Given the description of an element on the screen output the (x, y) to click on. 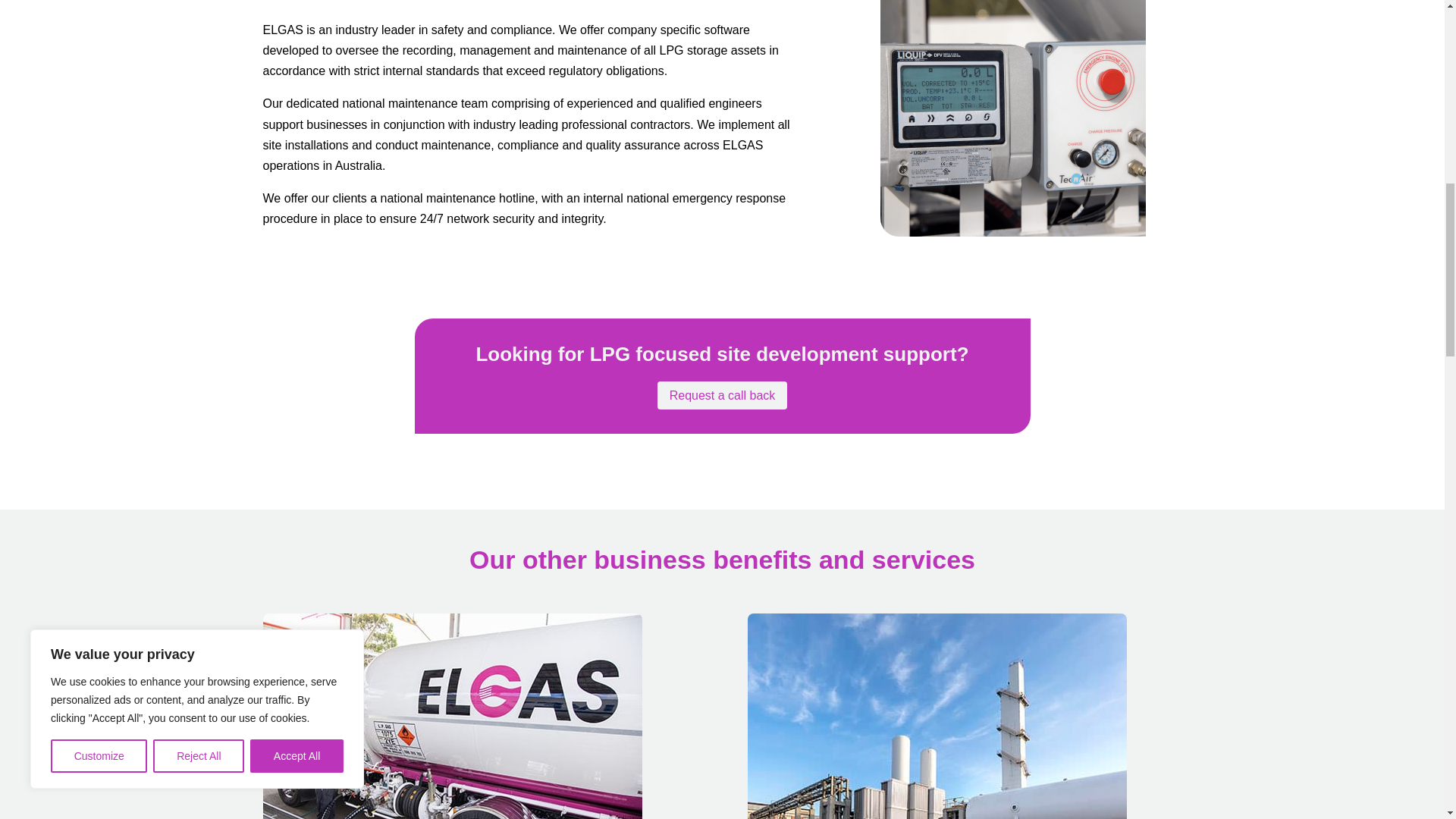
site-engineering-2 (452, 716)
